Given the description of an element on the screen output the (x, y) to click on. 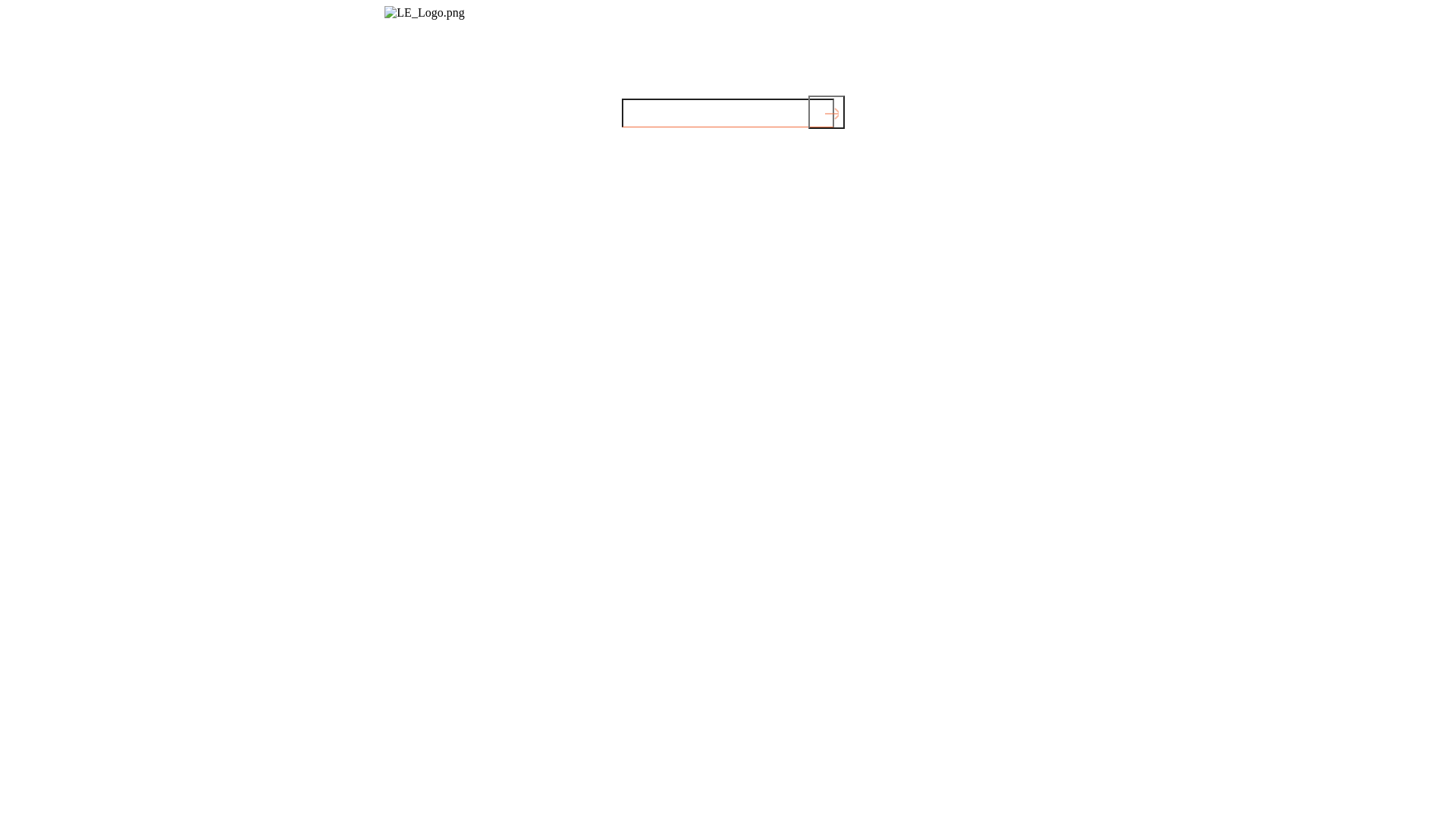
info@lindsayandedmunds.com Element type: text (425, 65)
